Given the description of an element on the screen output the (x, y) to click on. 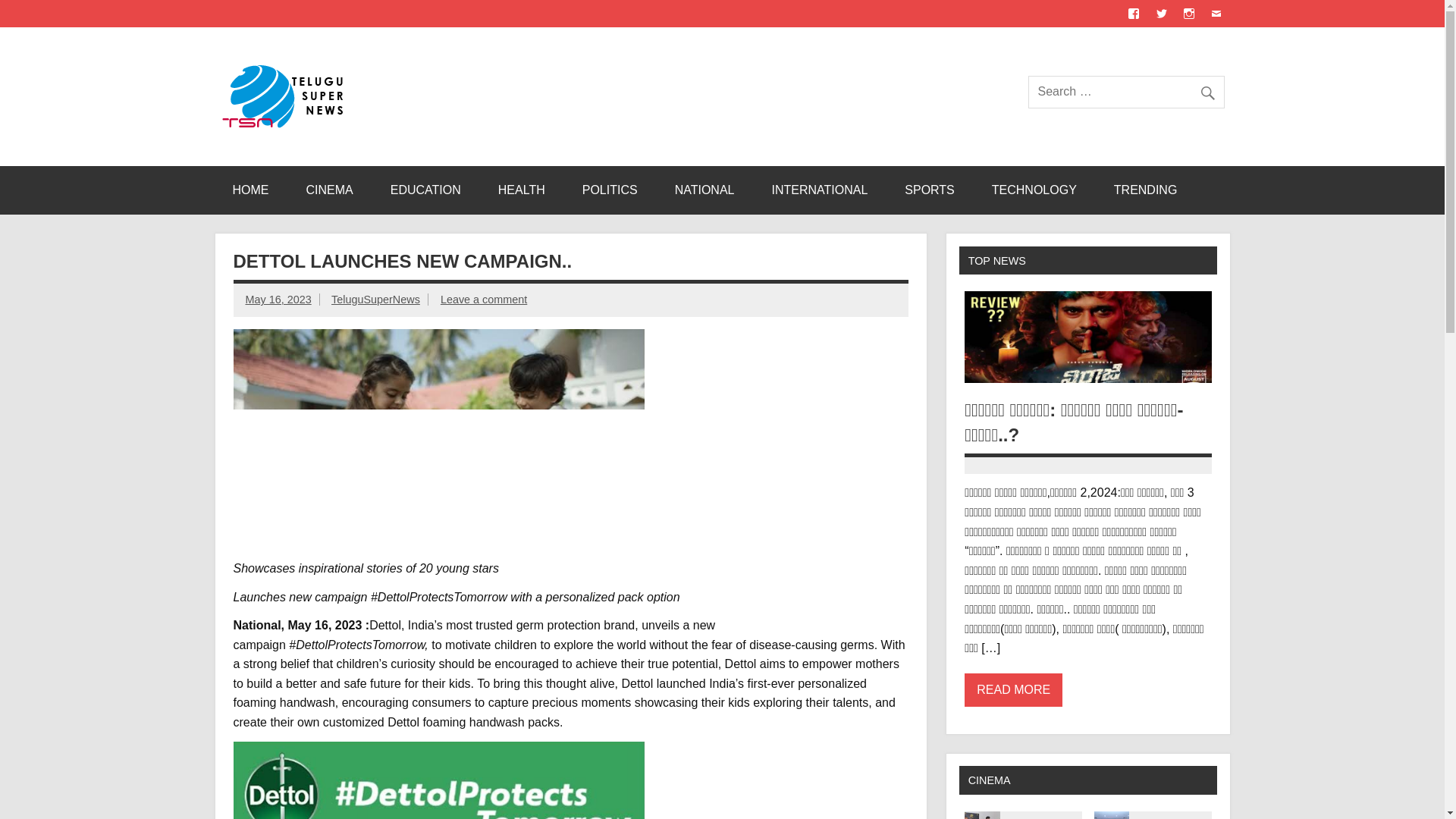
View all posts by TeluguSuperNews (375, 299)
TECHNOLOGY (1034, 190)
Leave a comment (484, 299)
EDUCATION (425, 190)
SPORTS (929, 190)
POLITICS (610, 190)
TRENDING (1145, 190)
2:16 pm (278, 299)
May 16, 2023 (278, 299)
TeluguSuperNews (375, 299)
